Given the description of an element on the screen output the (x, y) to click on. 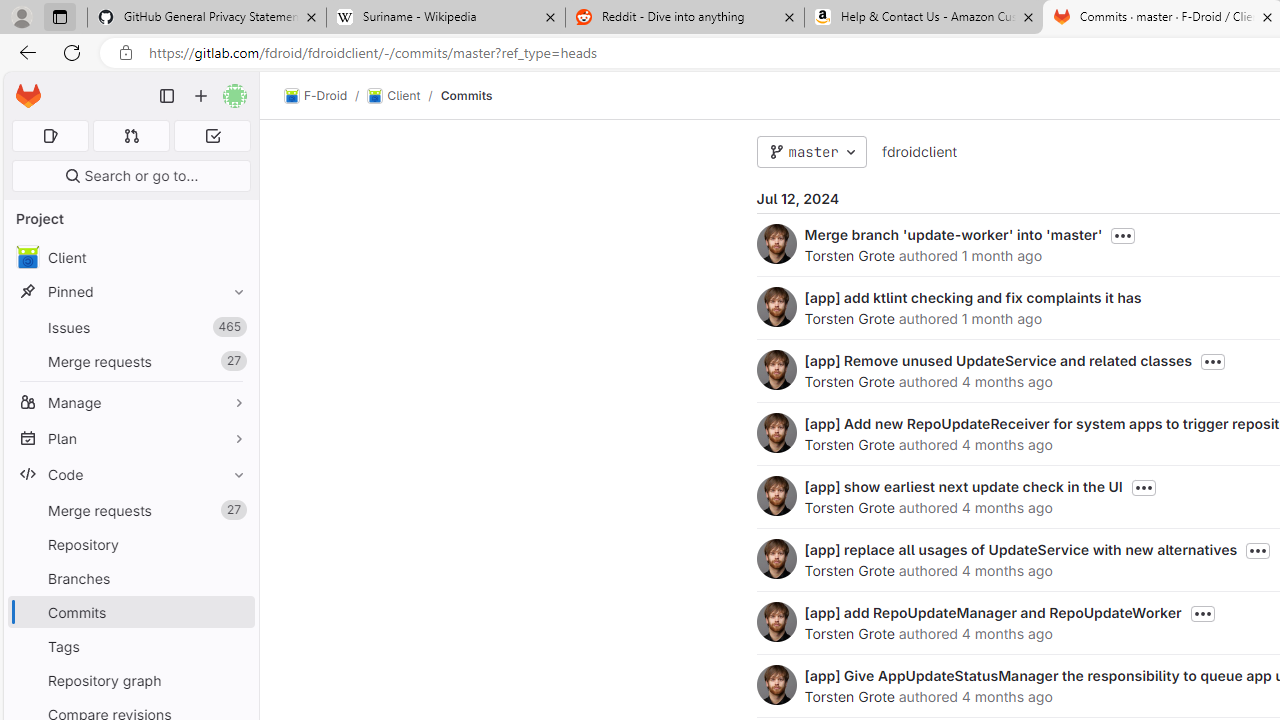
avatar Client (130, 257)
Pin Repository graph (234, 680)
Manage (130, 402)
avatar (27, 257)
Commits (466, 95)
Code (130, 474)
Pin Repository (234, 544)
Tags (130, 646)
Help & Contact Us - Amazon Customer Service (924, 17)
Tab actions menu (59, 16)
[app] Remove unused UpdateService and related classes (997, 360)
Torsten Grote (848, 696)
